Given the description of an element on the screen output the (x, y) to click on. 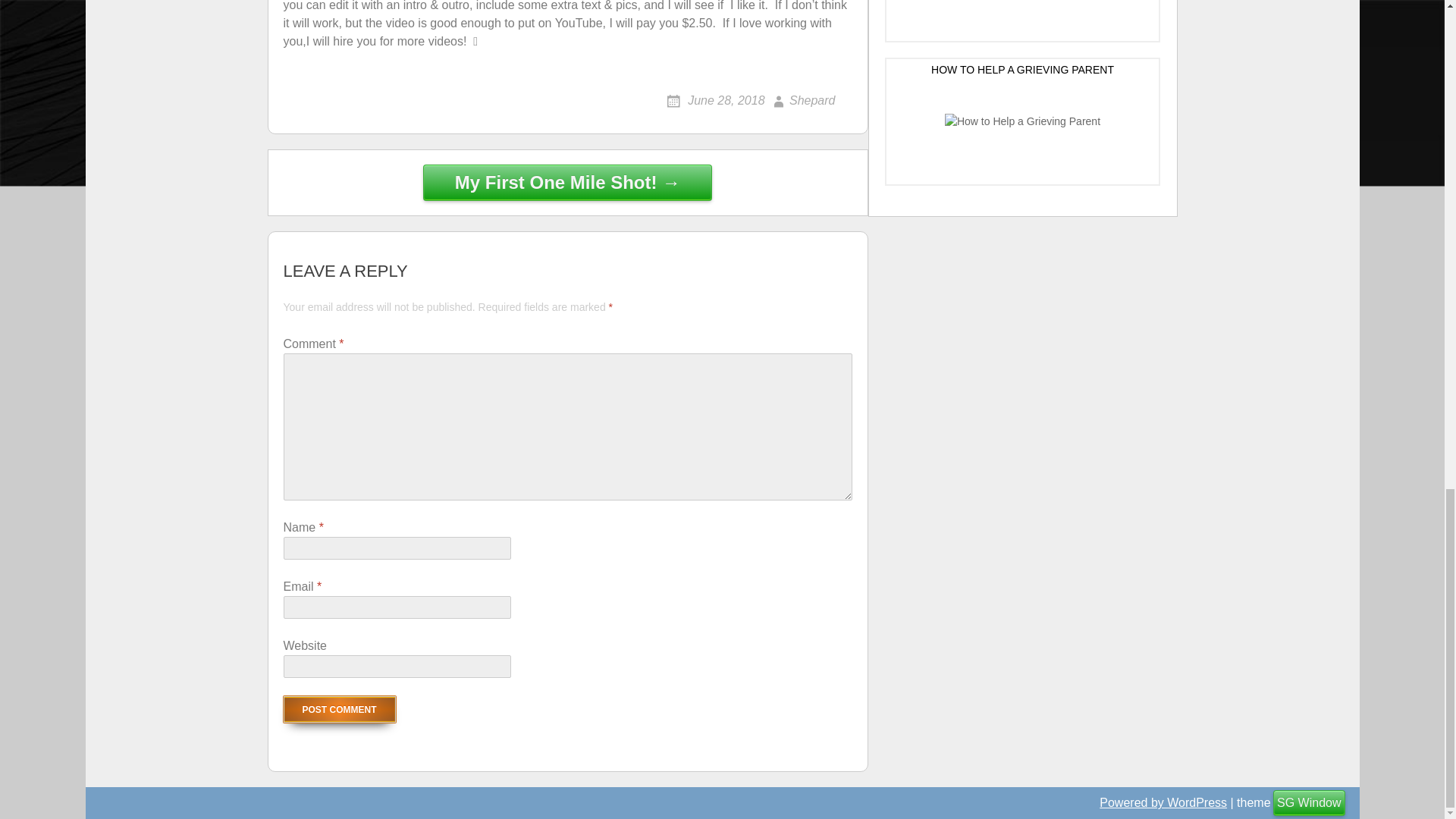
June 28, 2018 (715, 100)
SG Window (1308, 802)
Shepard (801, 100)
June 28, 2018 (715, 100)
Powered by WordPress (1163, 802)
HOW TO HELP A GRIEVING PARENT (1022, 121)
Shepard (801, 100)
Post Comment (339, 709)
Post Comment (339, 709)
GROWING IN A GARDEN (1022, 20)
